Given the description of an element on the screen output the (x, y) to click on. 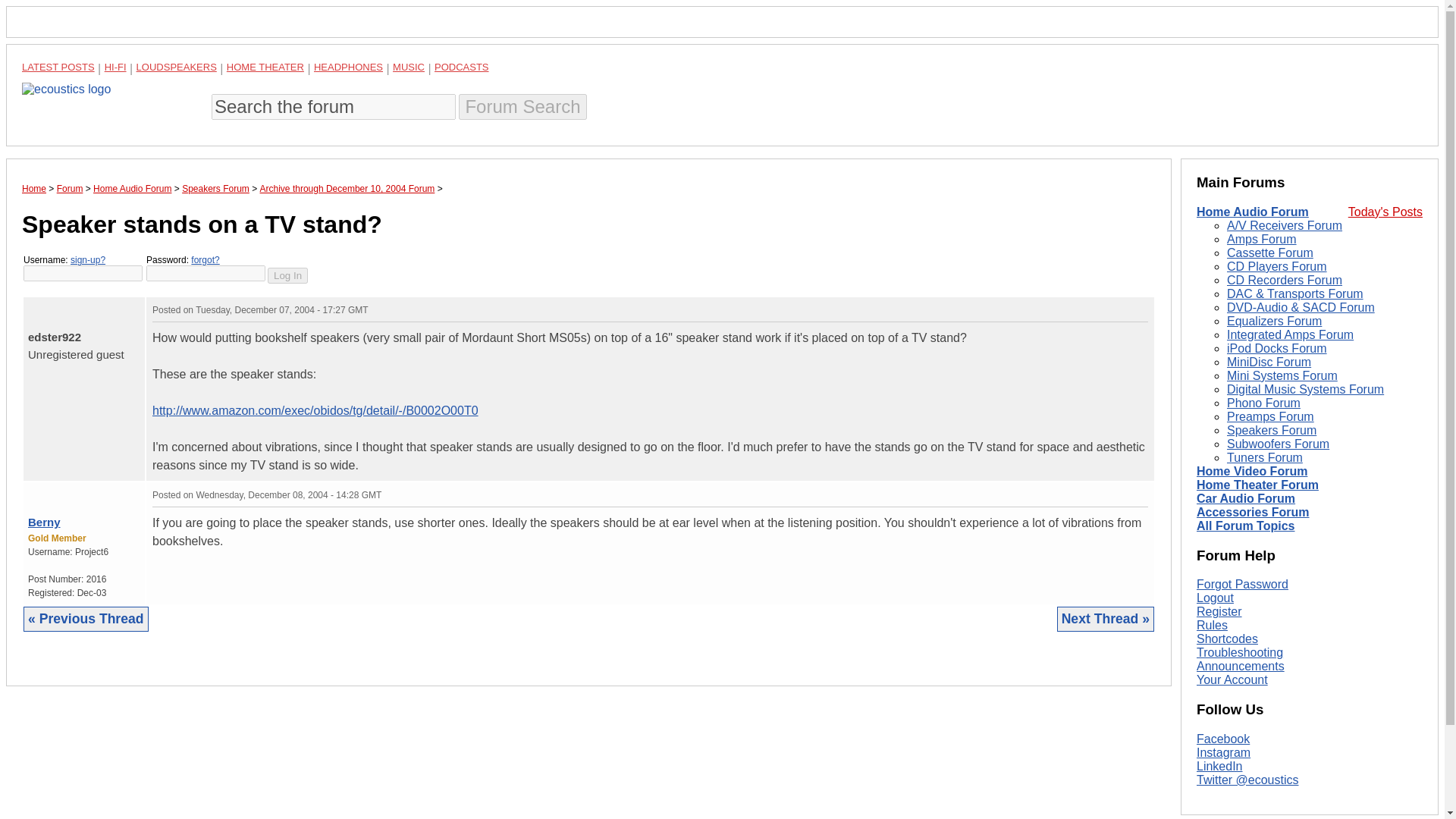
link to this post (68, 307)
Log In (287, 275)
Berny (44, 521)
LATEST POSTS (57, 66)
HI-FI (115, 66)
MUSIC (409, 66)
Log In (287, 275)
last post (50, 307)
Archive through December 10, 2004 Forum (347, 188)
Today's Posts (1385, 211)
